Given the description of an element on the screen output the (x, y) to click on. 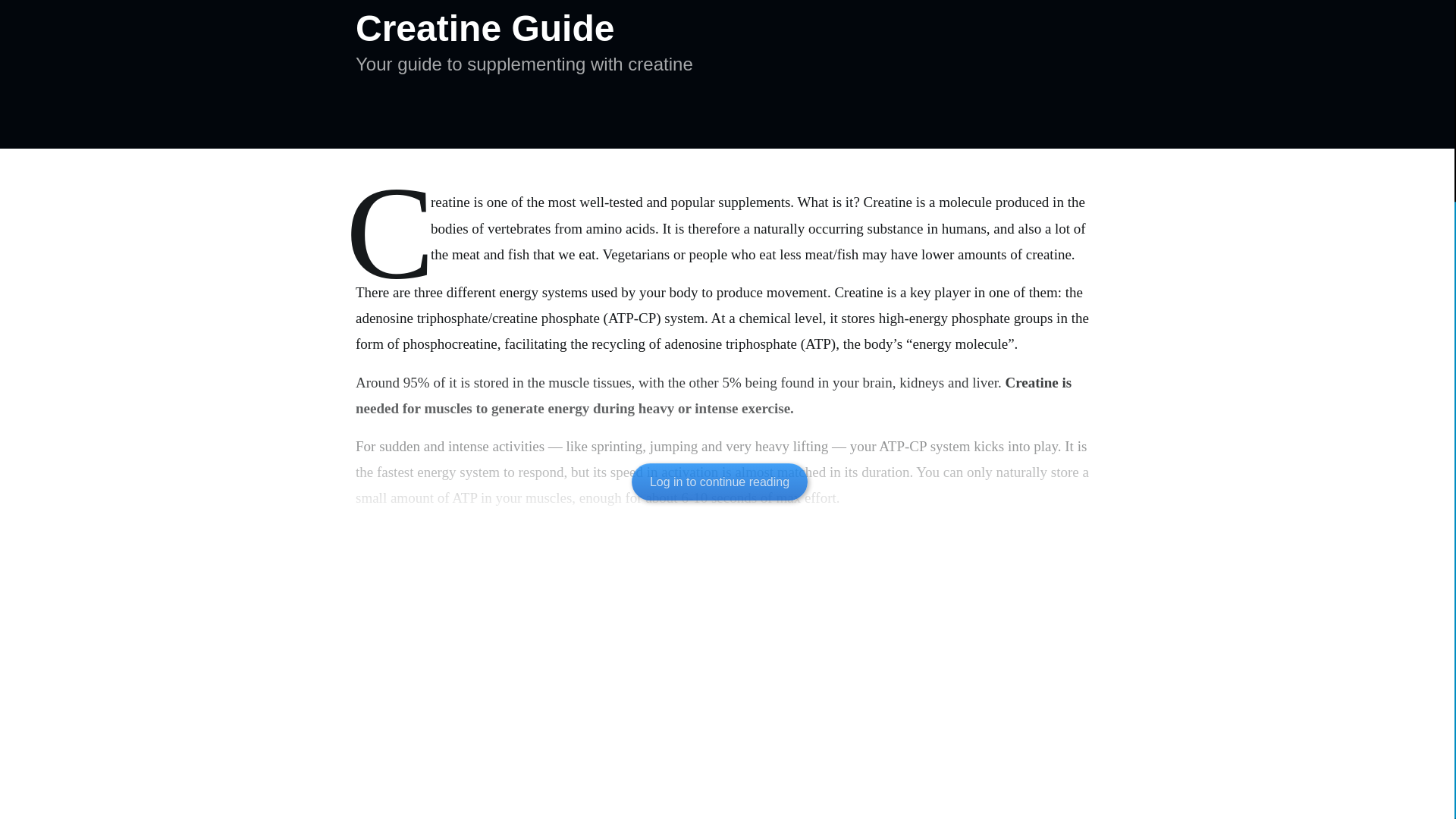
Log in to continue reading (719, 481)
